Given the description of an element on the screen output the (x, y) to click on. 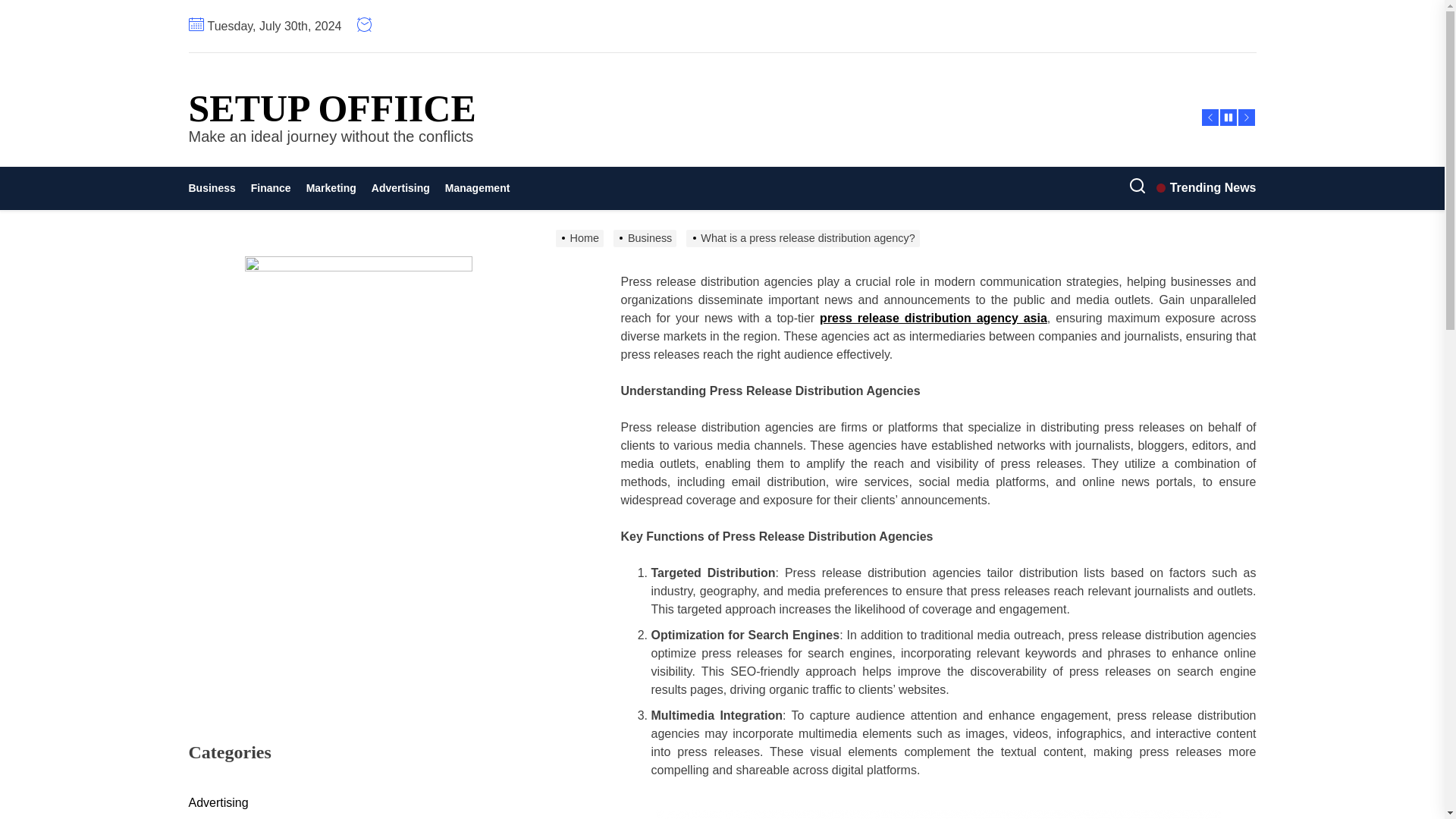
Business (215, 188)
Trending News (1206, 188)
SETUP OFFIICE (331, 108)
Advertising (401, 188)
Management (478, 188)
Finance (270, 188)
Marketing (331, 188)
